Given the description of an element on the screen output the (x, y) to click on. 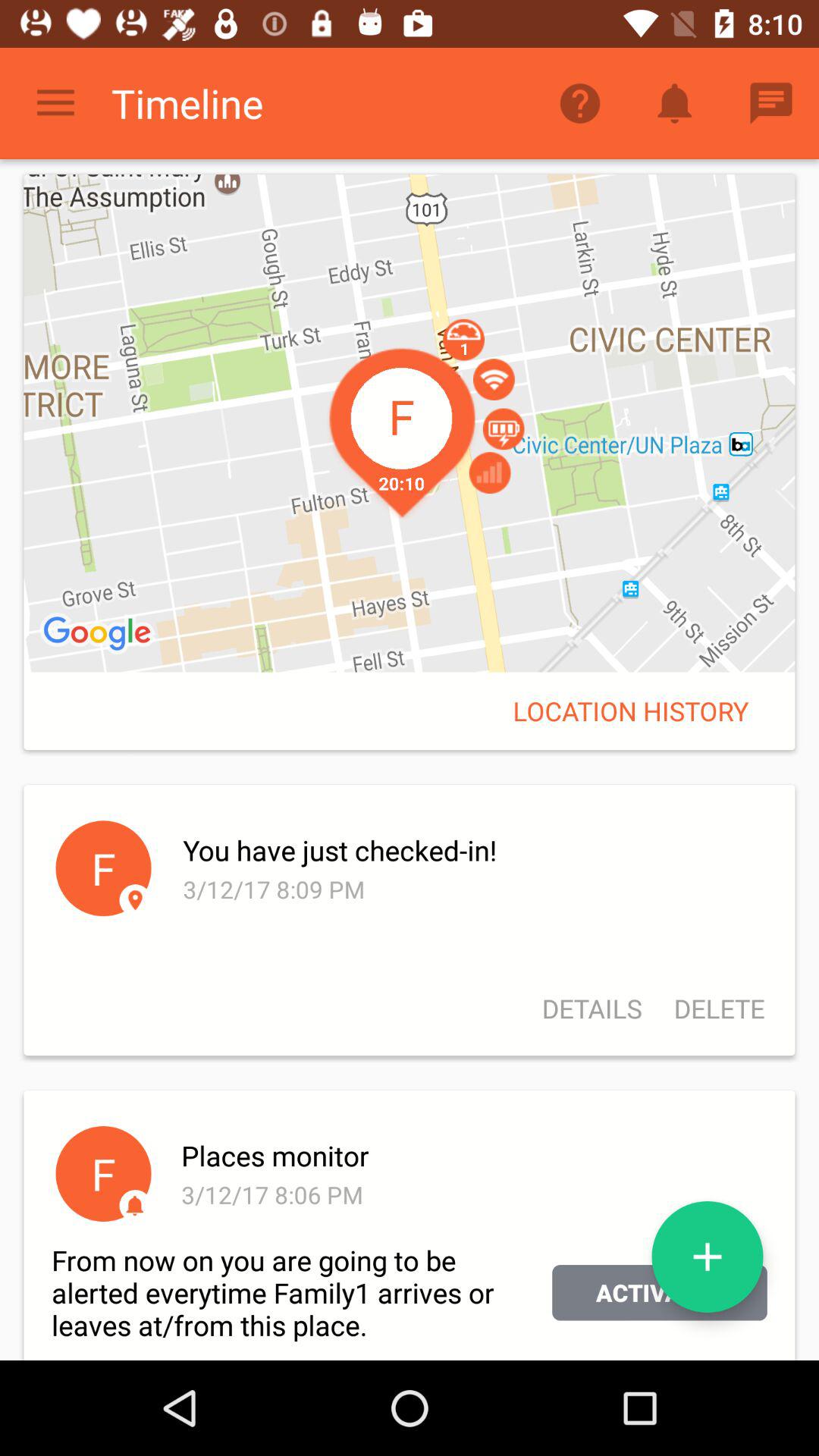
scroll to the you have just item (473, 850)
